Given the description of an element on the screen output the (x, y) to click on. 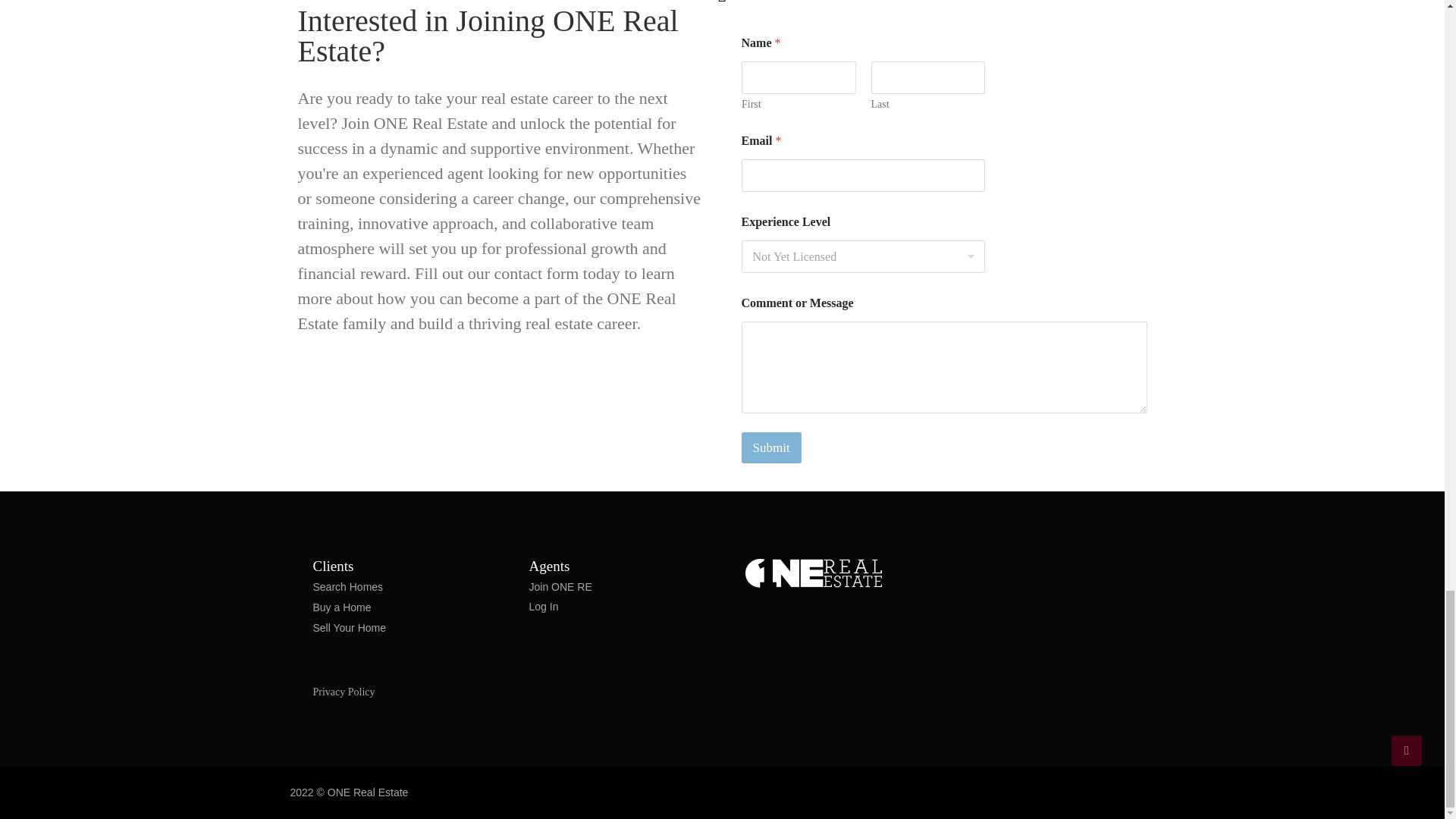
Submit (771, 447)
Sell Your Home (349, 628)
Search Homes (347, 587)
Log In (544, 606)
Privacy Policy (343, 691)
Join ONE RE (560, 587)
Buy a Home (342, 607)
